Given the description of an element on the screen output the (x, y) to click on. 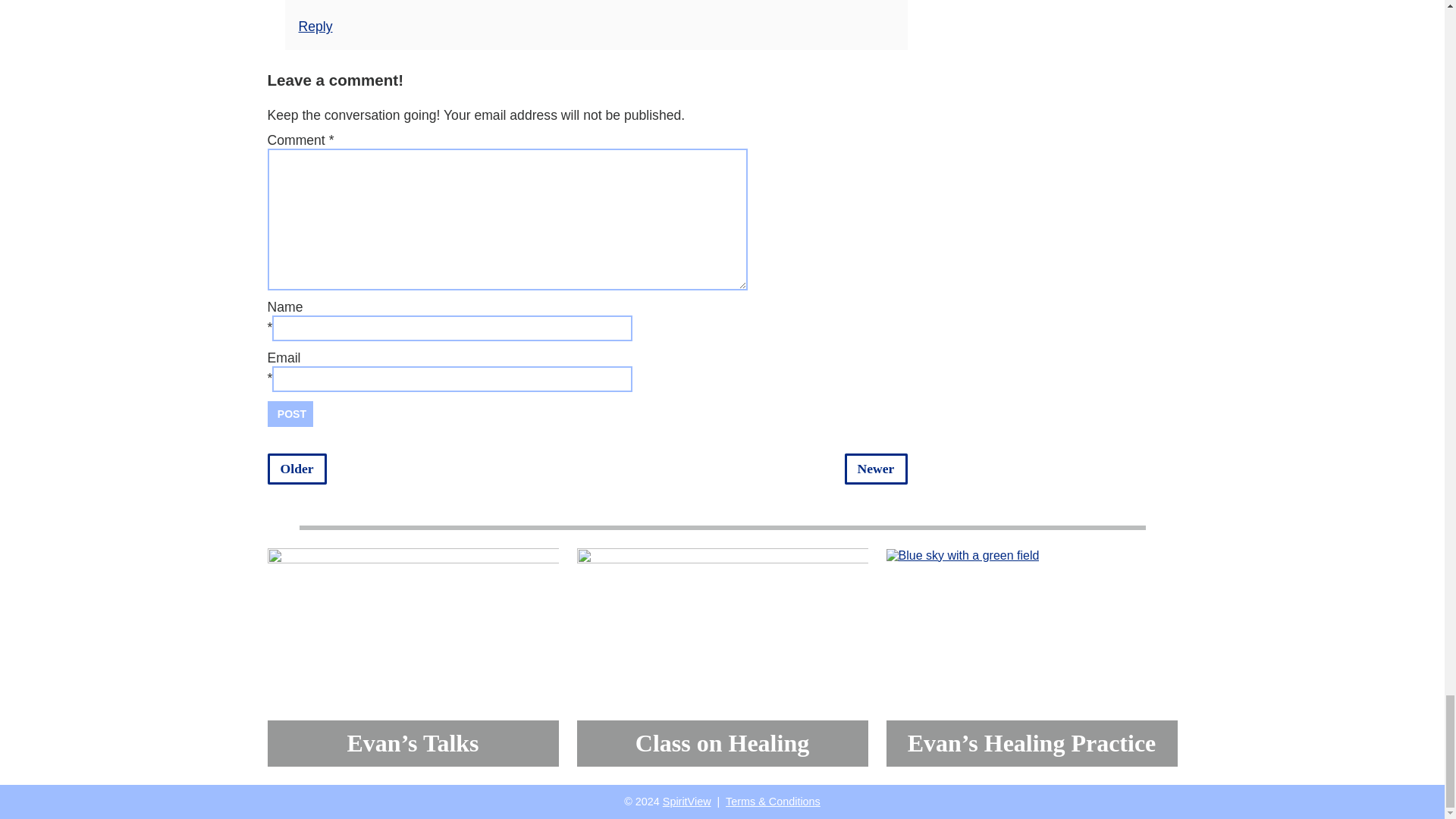
Post (289, 413)
Evan's Healing Practice (962, 555)
